Given the description of an element on the screen output the (x, y) to click on. 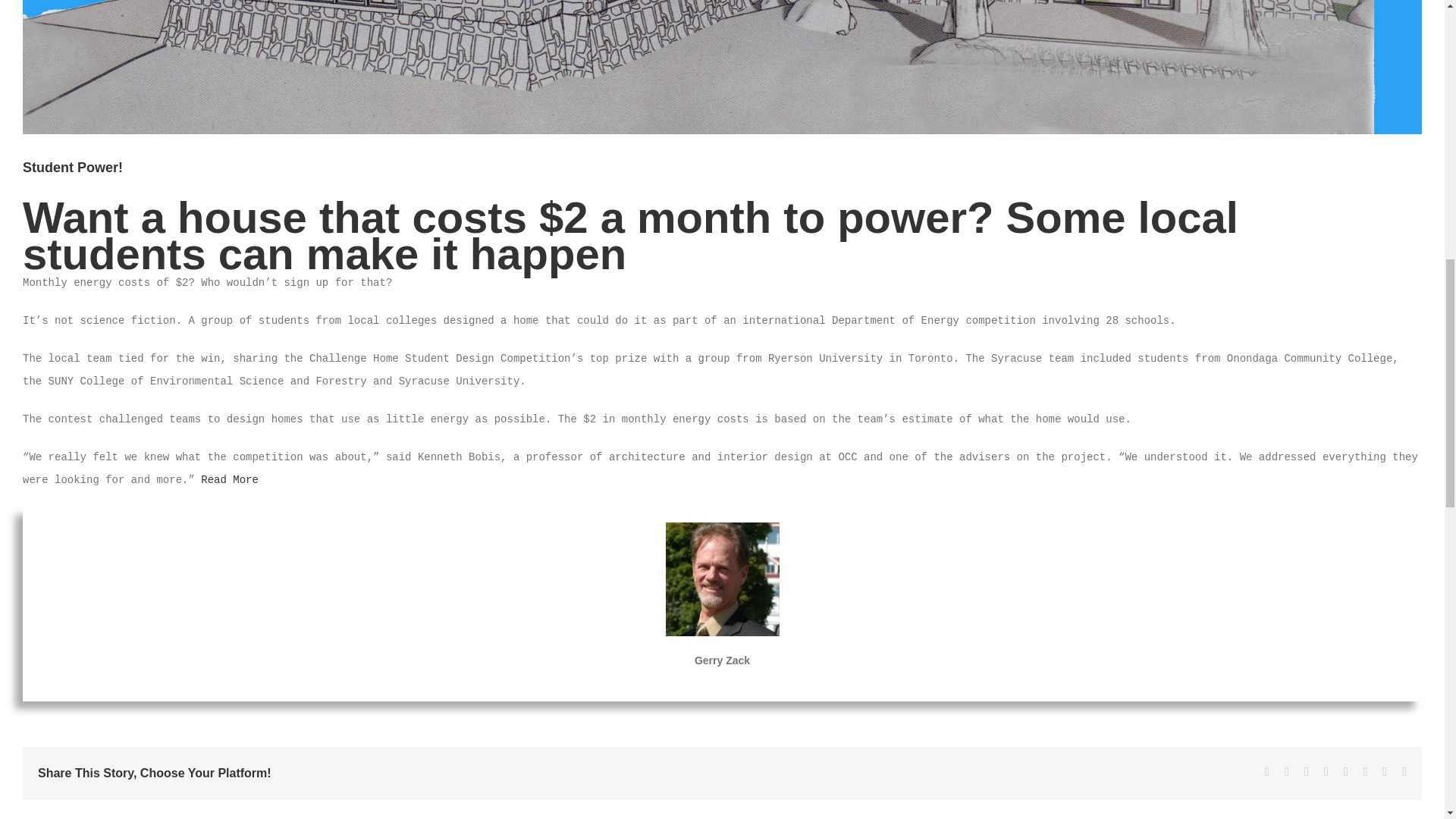
Read More (229, 480)
Gerry Zack (721, 660)
